Given the description of an element on the screen output the (x, y) to click on. 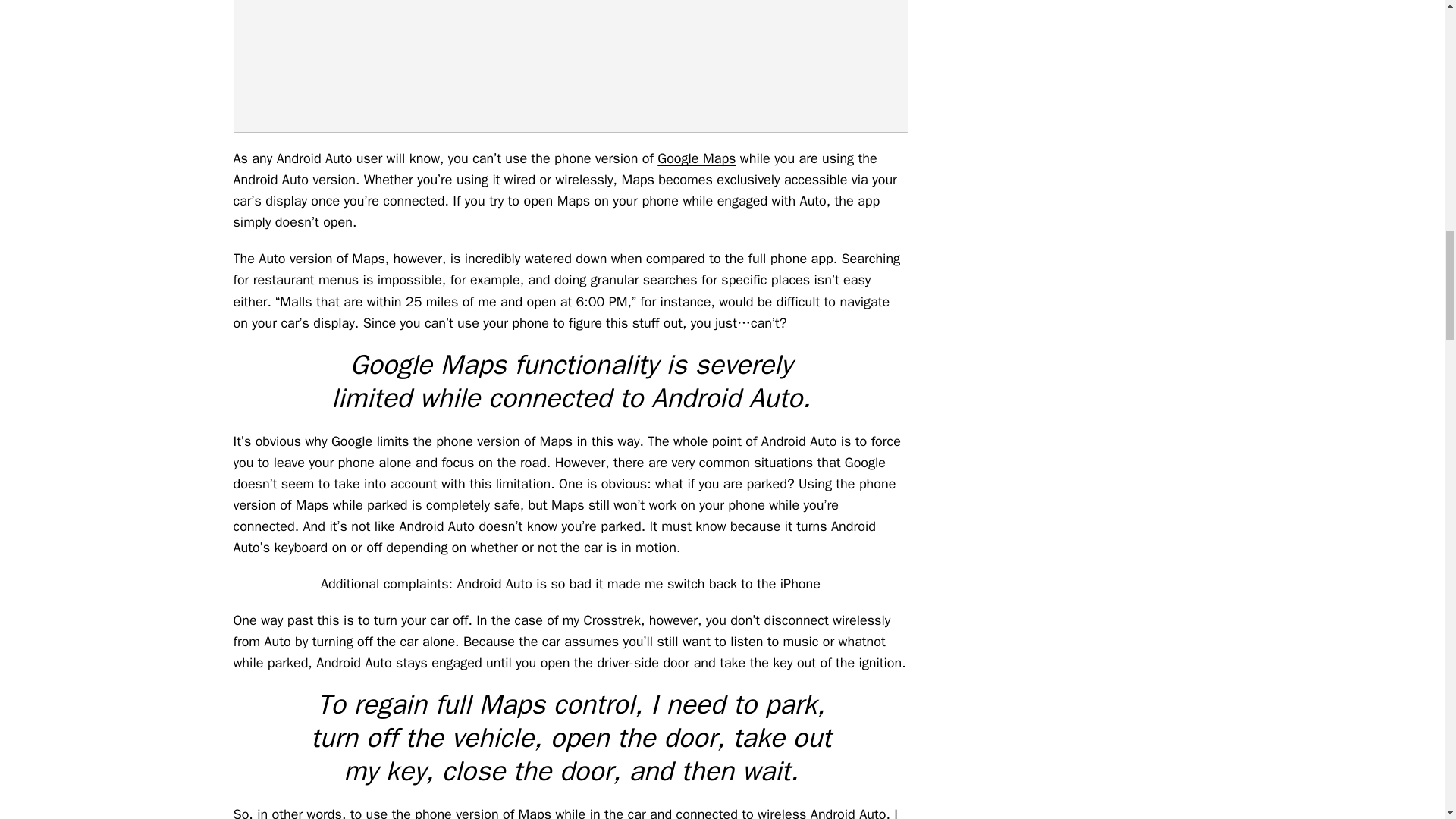
Android Auto is so bad it made me switch back to the iPhone (639, 583)
Google Maps app Pixel 2 XL AA 1 (570, 66)
Google Maps (696, 158)
